Given the description of an element on the screen output the (x, y) to click on. 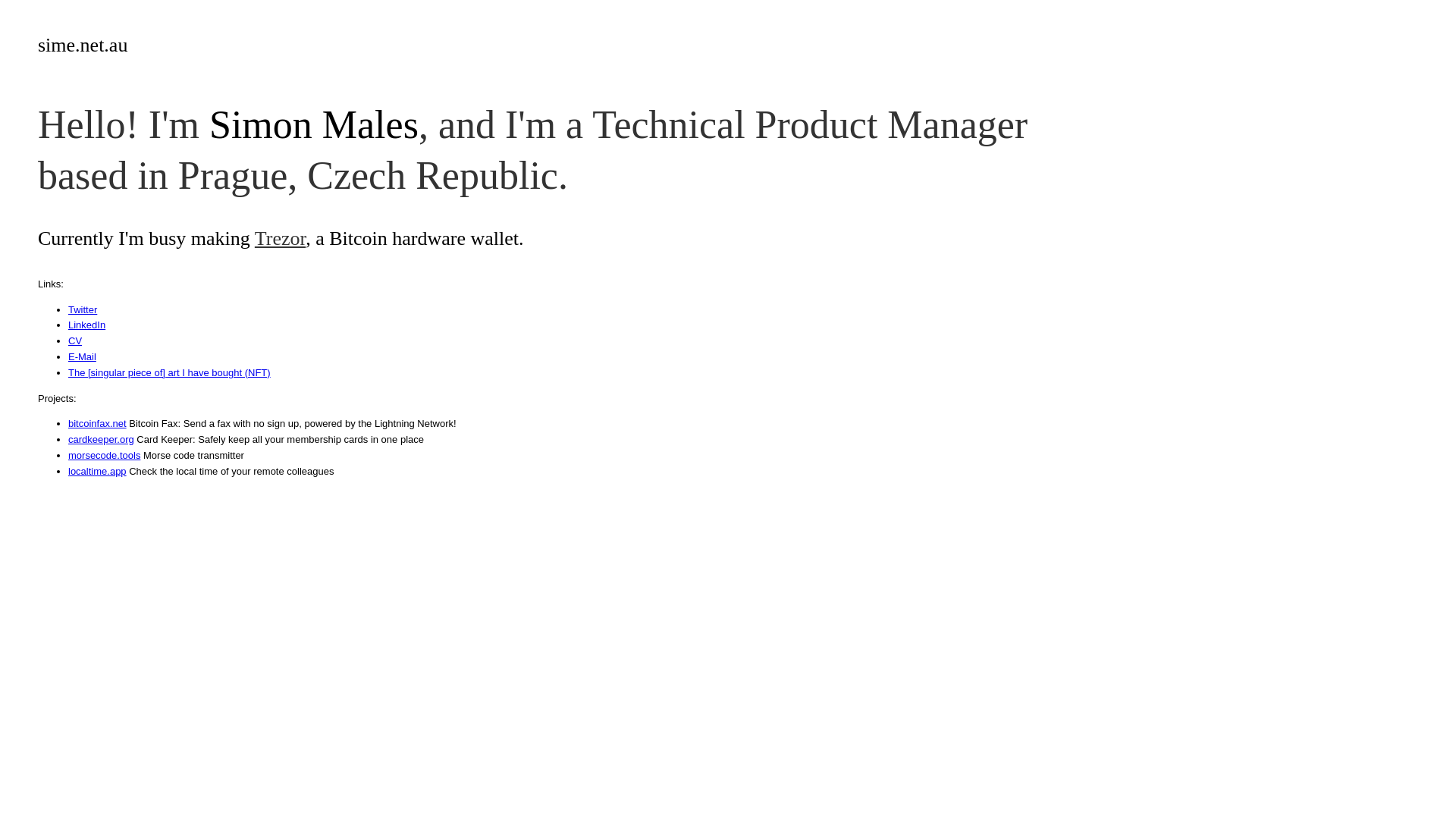
LinkedIn Element type: text (86, 324)
Trezor Element type: text (279, 238)
bitcoinfax.net Element type: text (97, 423)
Twitter Element type: text (82, 309)
The [singular piece of] art I have bought (NFT) Element type: text (169, 372)
cardkeeper.org Element type: text (101, 439)
CV Element type: text (74, 340)
morsecode.tools Element type: text (104, 455)
E-Mail Element type: text (82, 356)
Simon Males Element type: text (313, 124)
localtime.app Element type: text (97, 470)
